Given the description of an element on the screen output the (x, y) to click on. 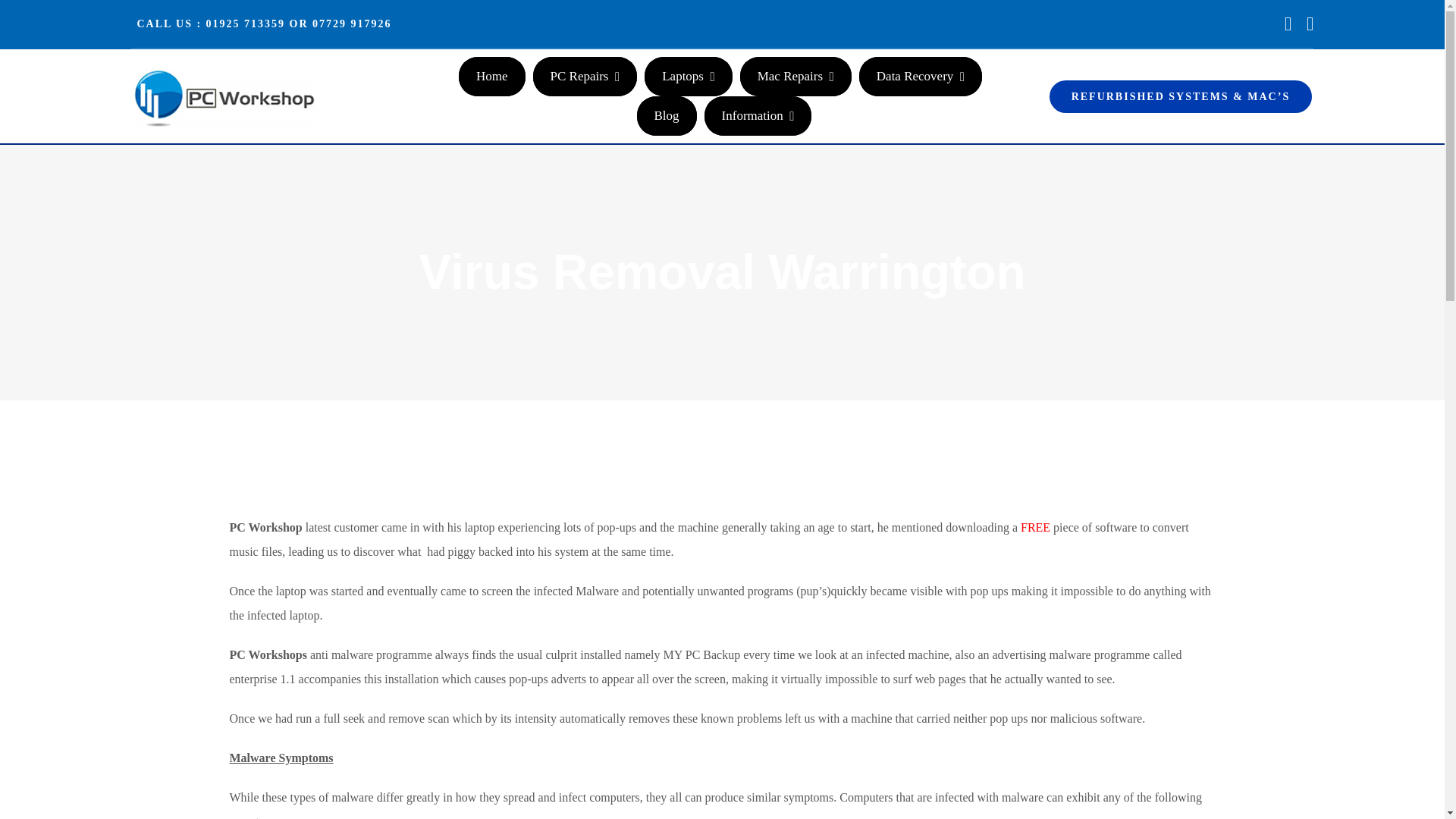
PC Repairs (584, 76)
CALL US : 01925 713359 OR 07729 917926 (260, 23)
Data Recovery (920, 76)
PC Workshop (491, 76)
Laptops (688, 76)
Information (758, 115)
Home (491, 76)
Blog (667, 115)
Apple Mac Repairs (795, 76)
Mac Repairs (795, 76)
